Given the description of an element on the screen output the (x, y) to click on. 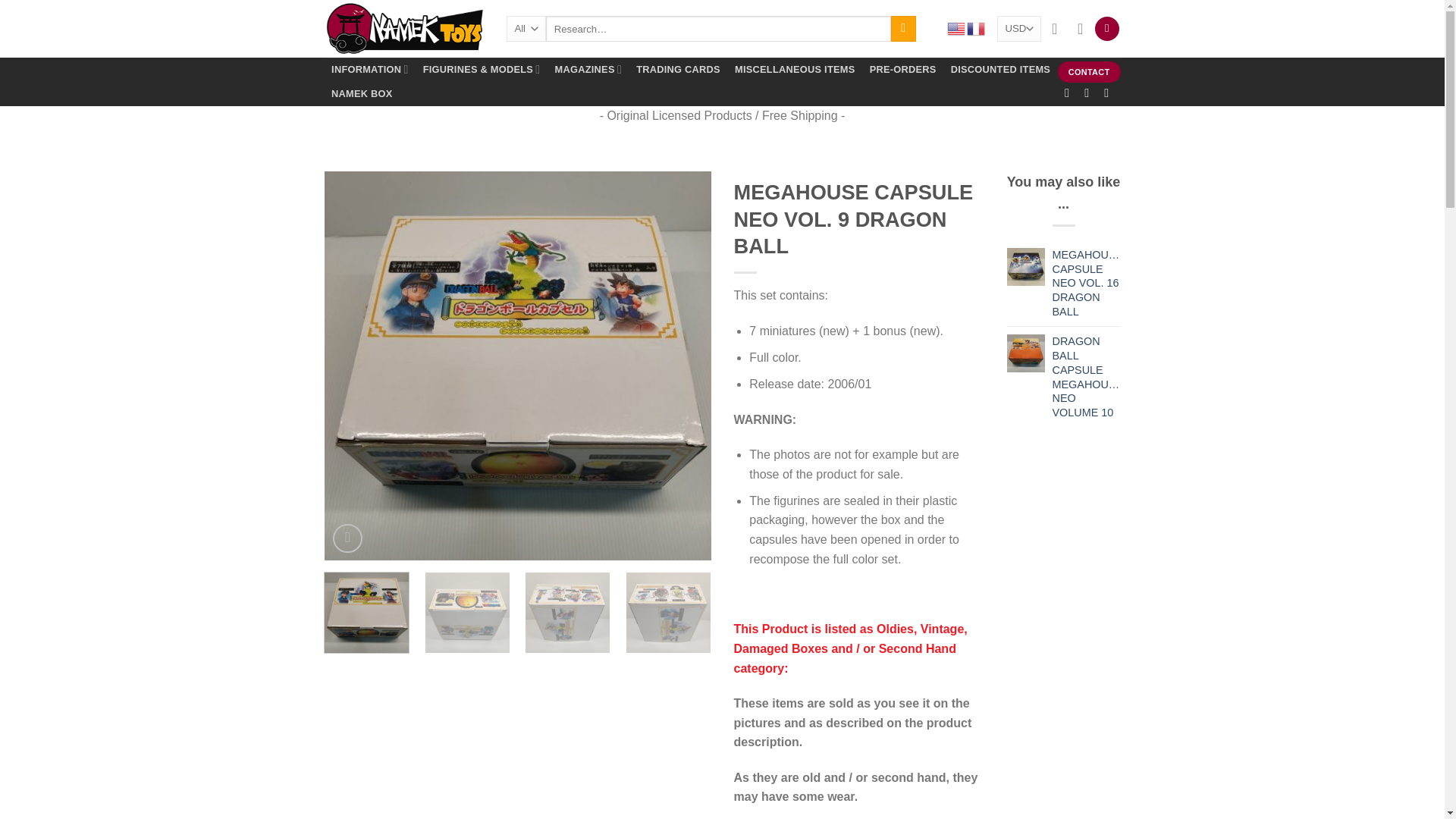
Follow us on Instagram (1090, 92)
NAMEK BOX (362, 93)
Recherche (903, 28)
Cart (1106, 28)
Zoom (347, 538)
MISCELLANEOUS ITEMS (793, 69)
MAGAZINES (587, 69)
PRE-ORDERS (902, 69)
TRADING CARDS (678, 69)
French (976, 28)
CONTACT (1089, 71)
Follow us on Twitter (1109, 92)
INFORMATION (370, 69)
NamekToys (403, 28)
English (956, 28)
